Given the description of an element on the screen output the (x, y) to click on. 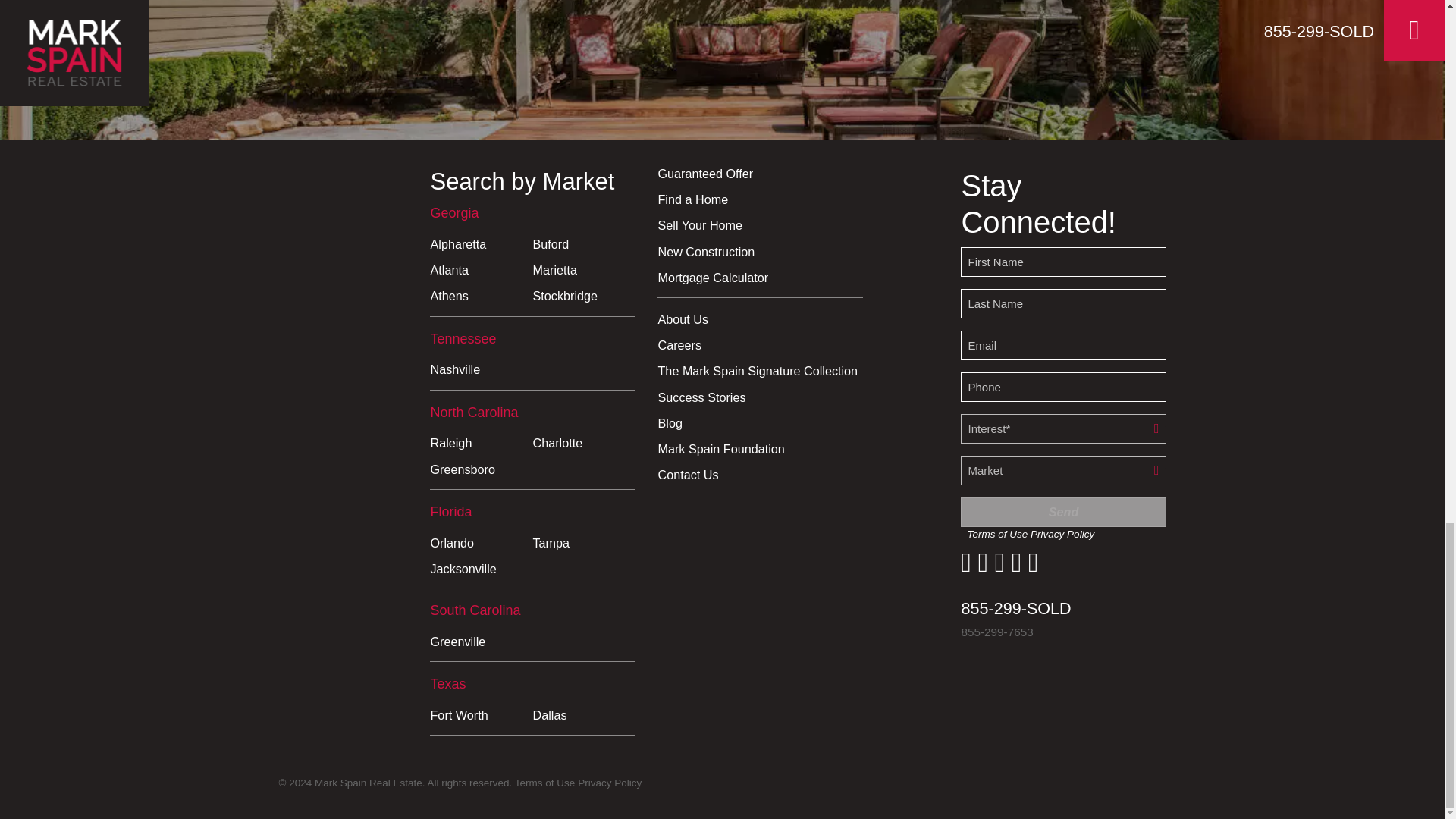
Athens (480, 302)
Privacy Policy (1062, 533)
Stockbridge (583, 302)
Privacy Policy (610, 782)
Marietta (583, 276)
Send (1063, 512)
Terms of Use (545, 782)
Atlanta (480, 276)
Alpharetta (480, 250)
Buford (583, 250)
